Given the description of an element on the screen output the (x, y) to click on. 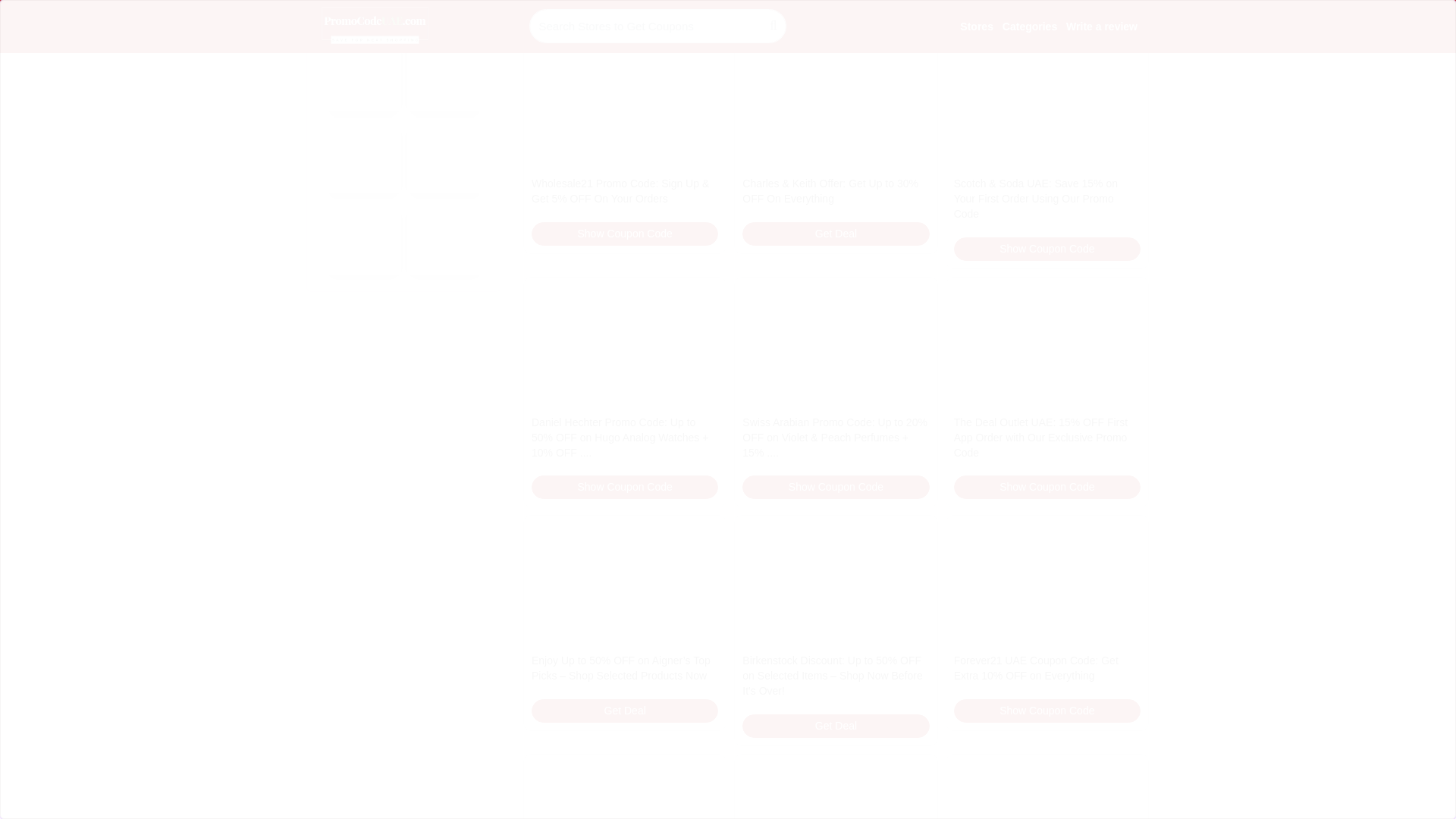
Get Deal (835, 11)
Show Coupon Code (624, 11)
Get Deal (1046, 11)
